Given the description of an element on the screen output the (x, y) to click on. 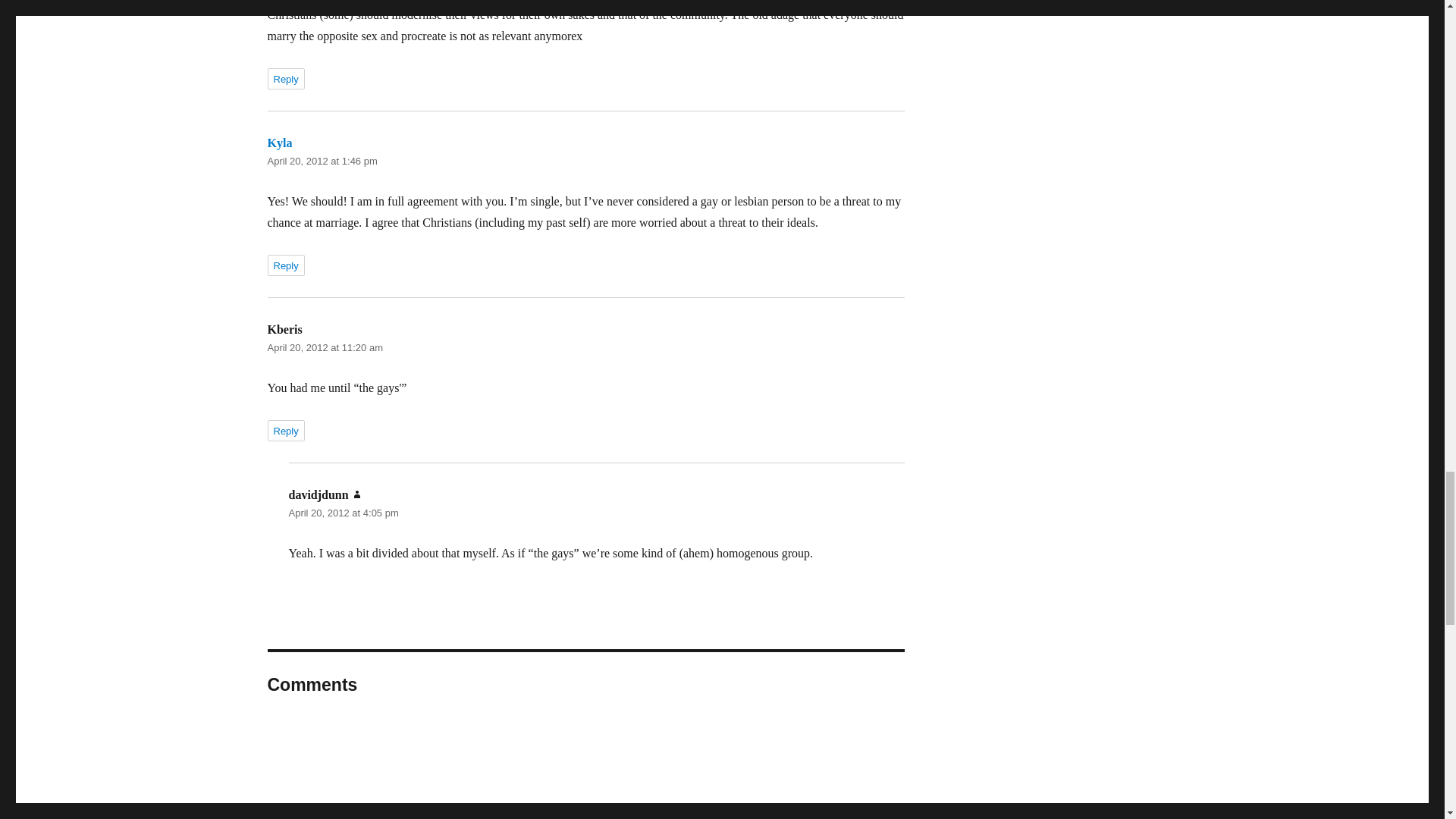
Reply (285, 78)
Comment Form (585, 768)
Kyla (279, 142)
April 20, 2012 at 1:46 pm (321, 161)
